Given the description of an element on the screen output the (x, y) to click on. 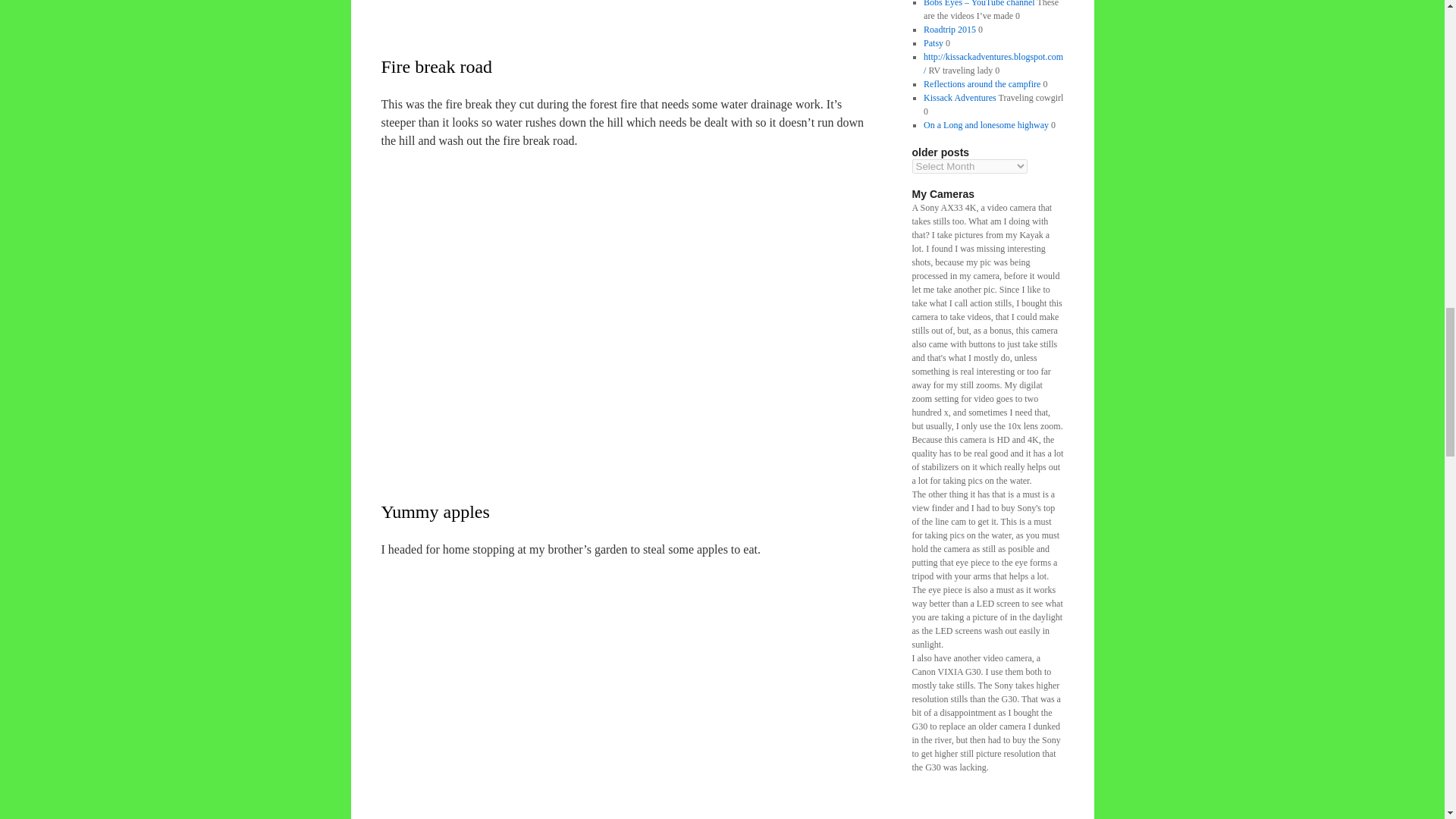
RV traveling lady (992, 63)
bike (630, 688)
Traveling cowgirl (959, 97)
